Given the description of an element on the screen output the (x, y) to click on. 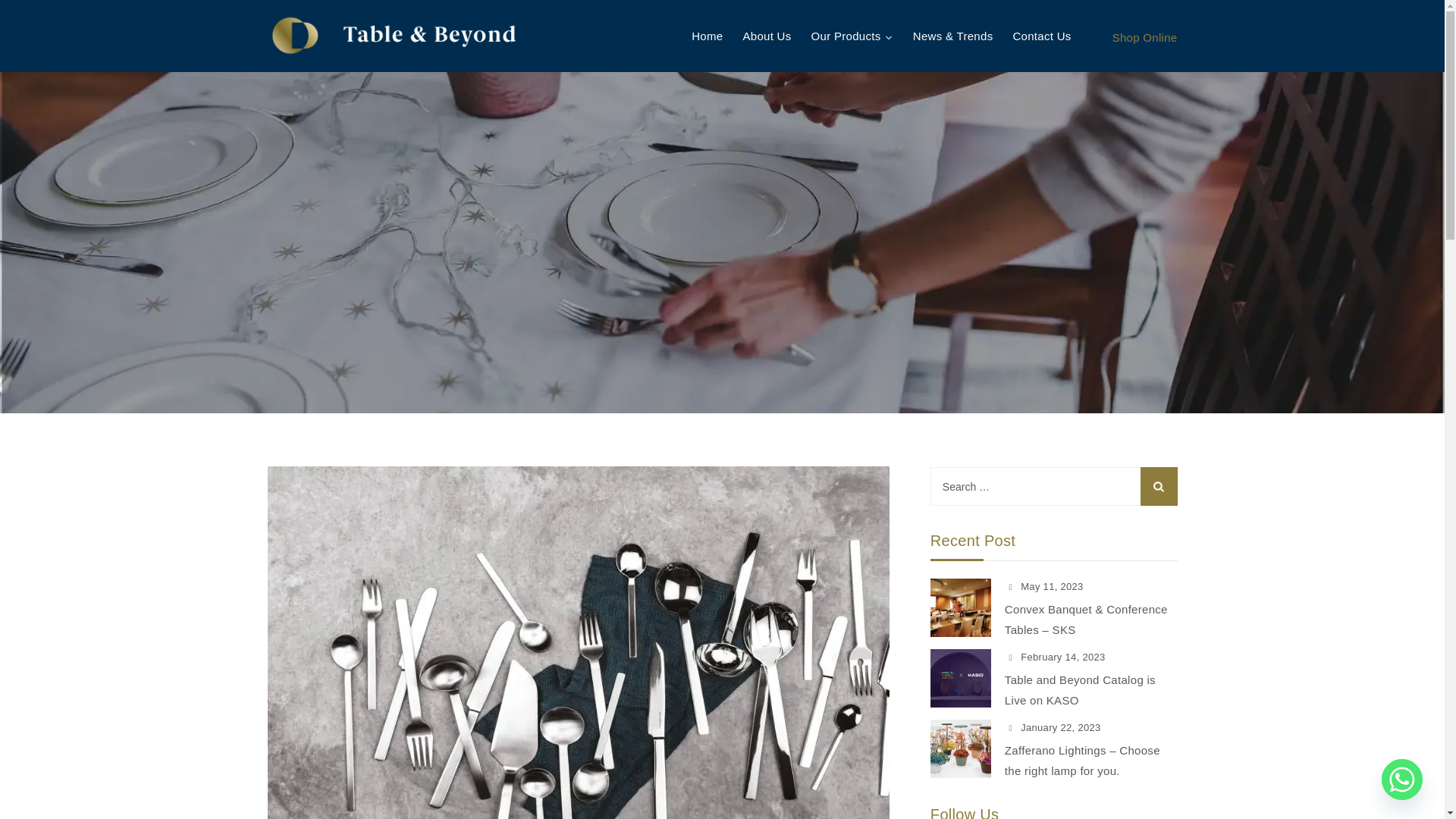
Table and Beyond (392, 36)
Search (1158, 486)
Search (1158, 486)
About Us (766, 36)
Home (706, 36)
Shop Online (1144, 37)
Our Products (852, 36)
